Given the description of an element on the screen output the (x, y) to click on. 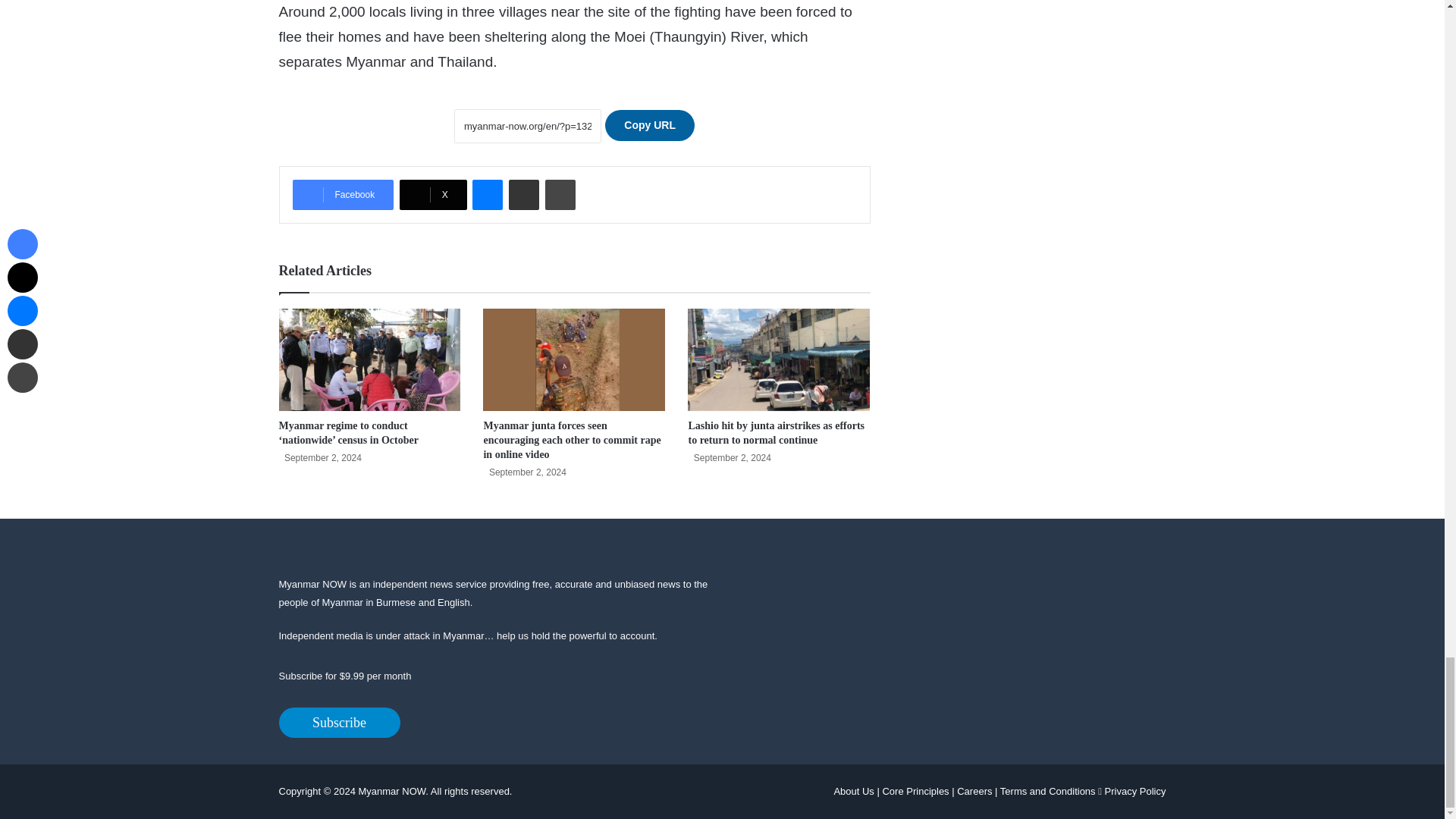
Share via Email (523, 194)
Messenger (486, 194)
Copy URL (649, 124)
X (432, 194)
X (432, 194)
Print (559, 194)
Share via Email (523, 194)
Print (559, 194)
Facebook (343, 194)
Facebook (343, 194)
